Given the description of an element on the screen output the (x, y) to click on. 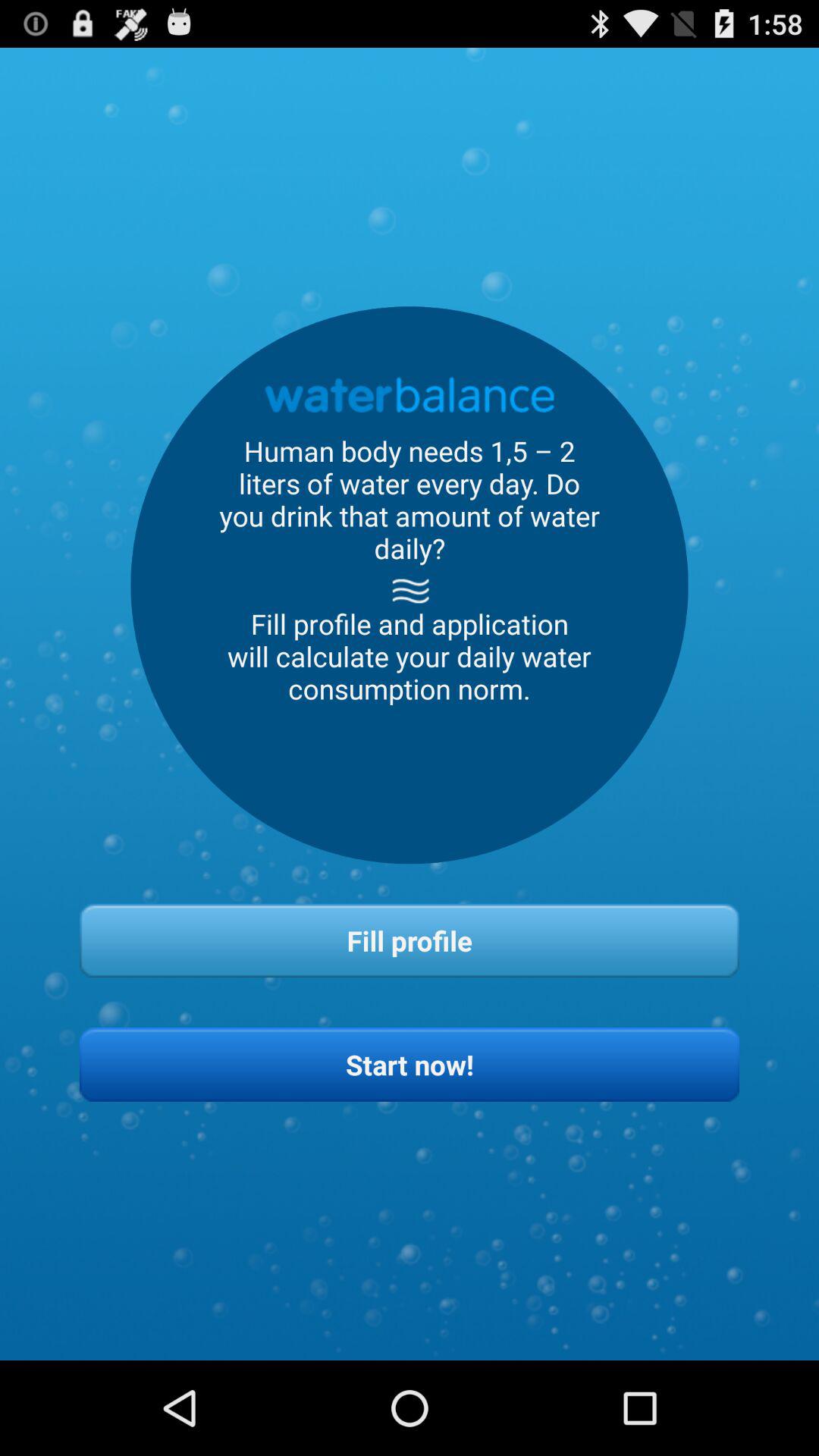
flip until start now! icon (409, 1064)
